Given the description of an element on the screen output the (x, y) to click on. 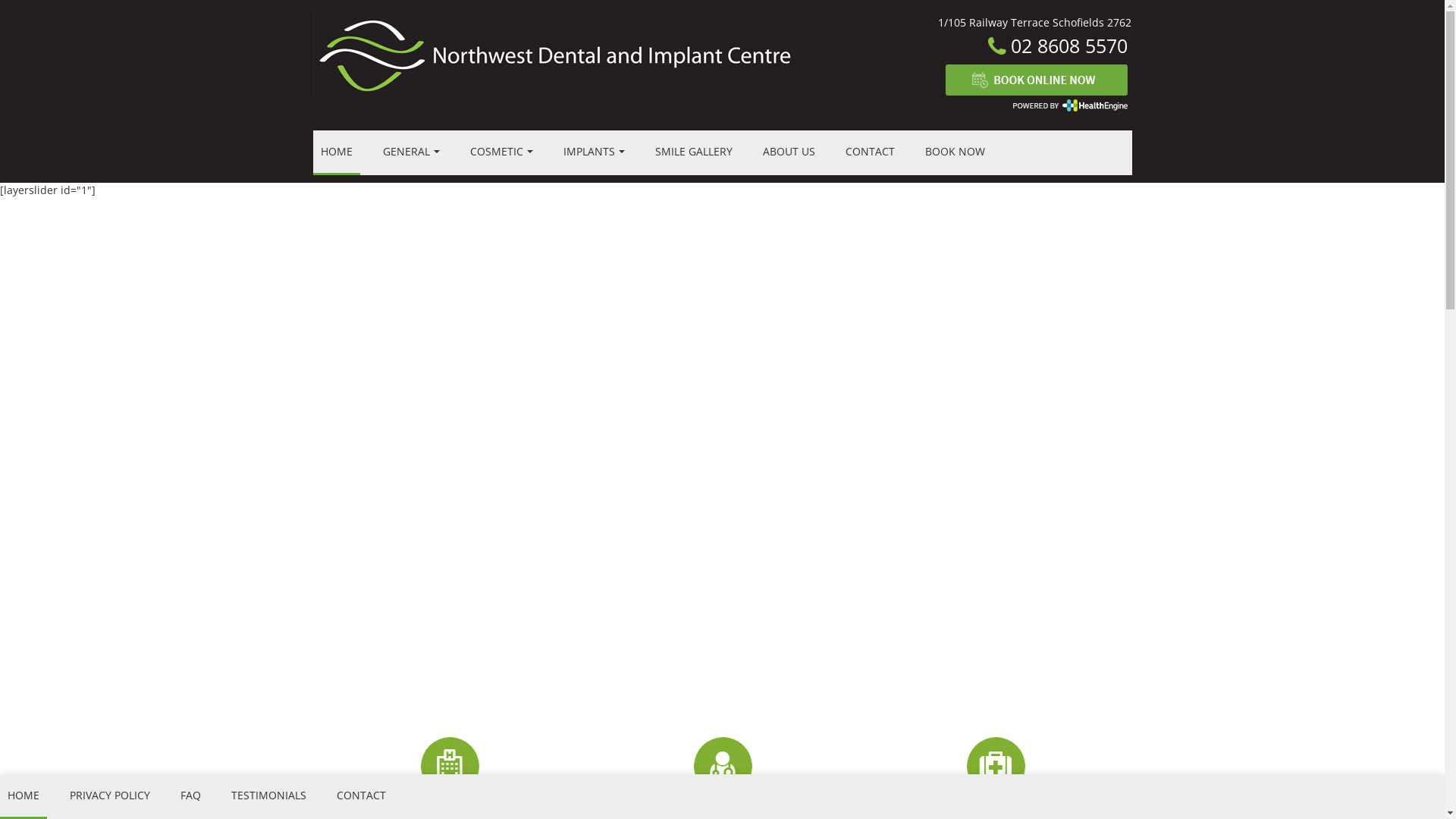
BOOK NOW Element type: text (954, 152)
HOME Element type: text (335, 152)
SMILE GALLERY Element type: text (693, 152)
COSMETIC Element type: text (501, 152)
IMPLANTS Element type: text (593, 152)
GENERAL Element type: text (410, 152)
ABOUT US Element type: text (788, 152)
CONTACT Element type: text (869, 152)
